Given the description of an element on the screen output the (x, y) to click on. 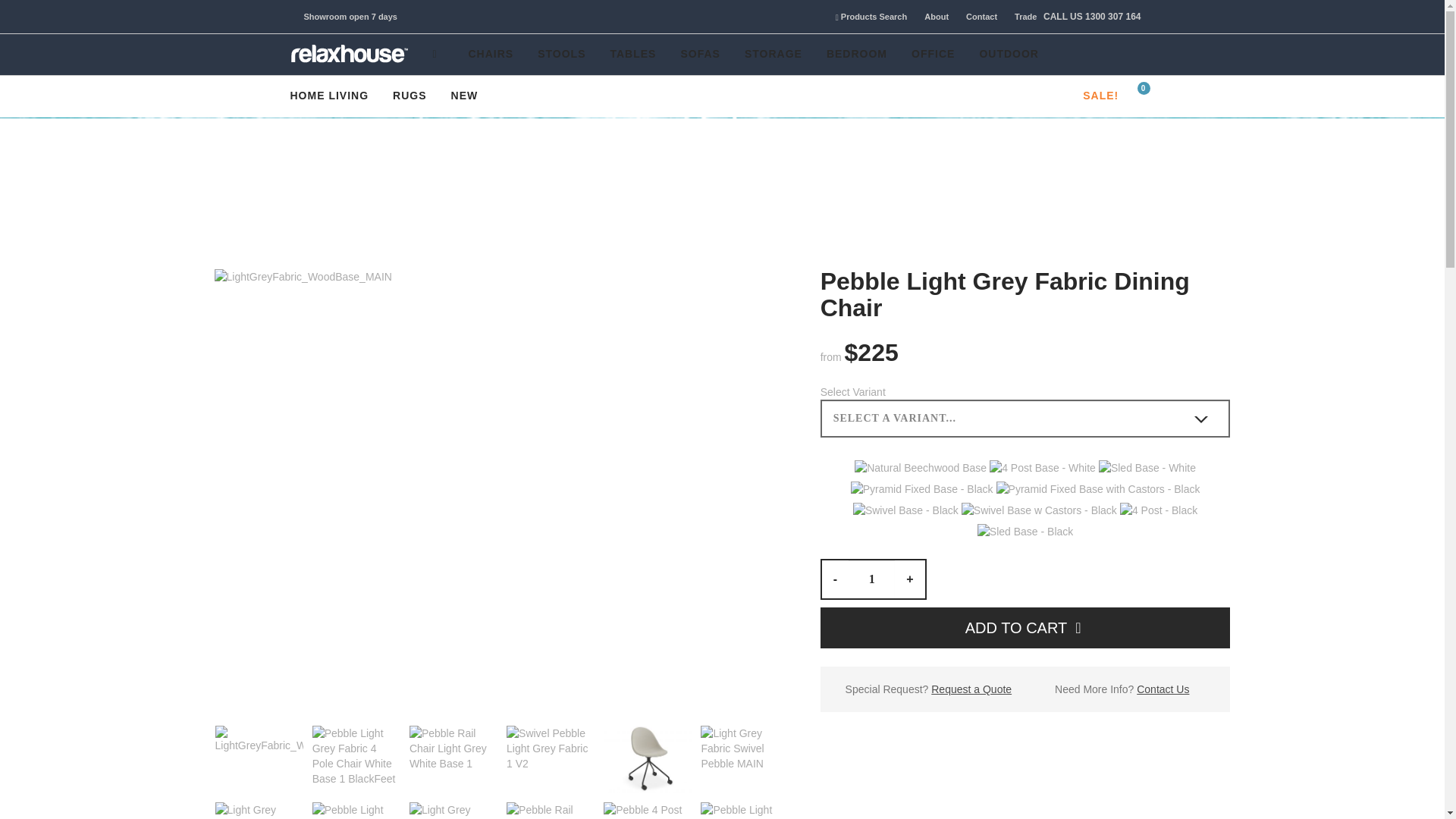
Natural Beechwood Base (920, 465)
STOOLS (561, 55)
Pyramid Fixed Base with Castors - Black (1098, 486)
TABLES (633, 55)
SOFAS (699, 55)
STORAGE (773, 55)
Sled Base - Black (1025, 529)
Contact (974, 16)
4 Post - Black (1158, 508)
Swivel Base w Castors - Black (1038, 508)
Showroom open 7 days (349, 16)
Sled Base - White (1146, 465)
CHAIRS (490, 55)
Swivel Base - Black (905, 508)
